Given the description of an element on the screen output the (x, y) to click on. 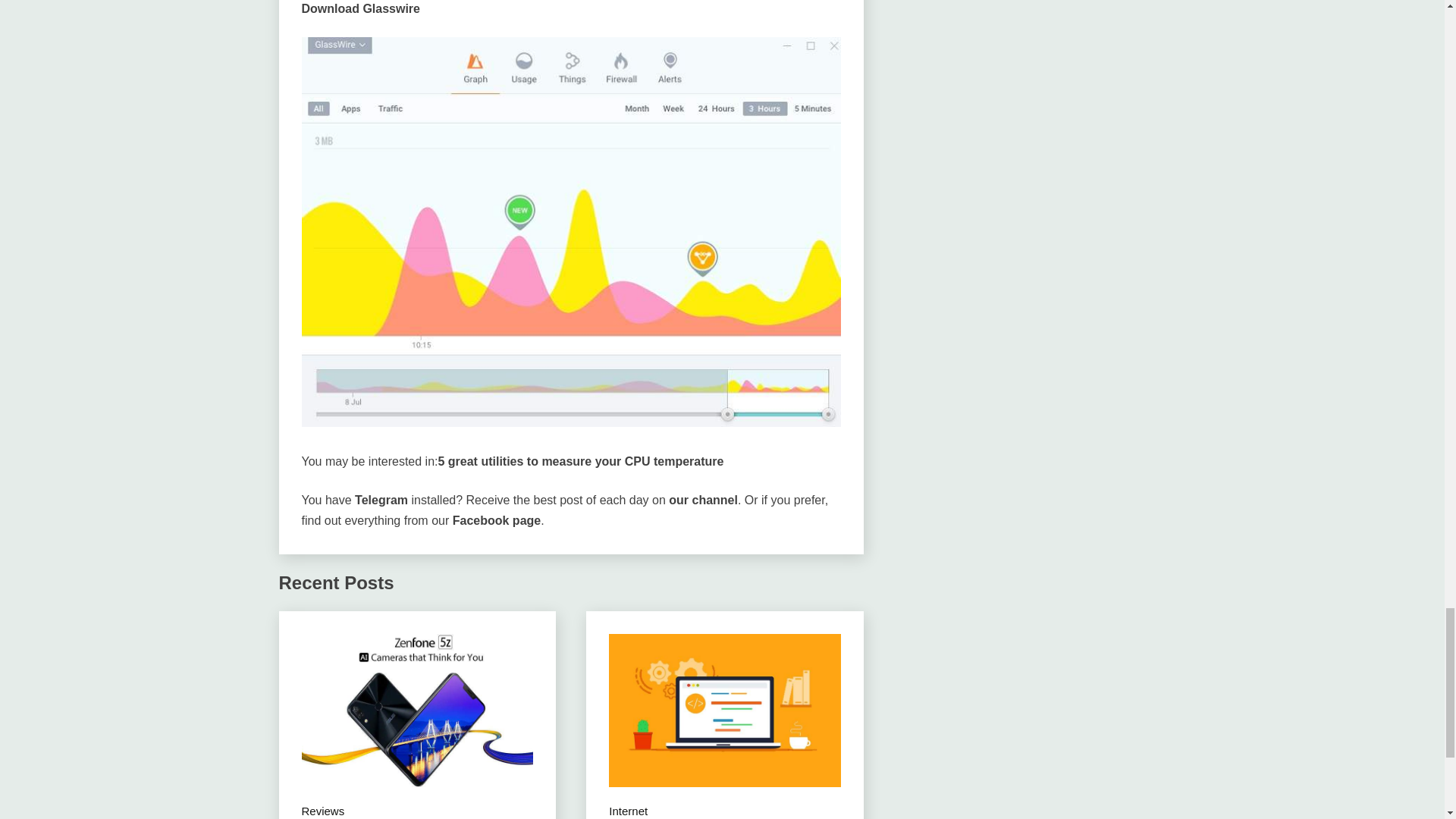
Reviews (323, 811)
Internet (627, 811)
